Given the description of an element on the screen output the (x, y) to click on. 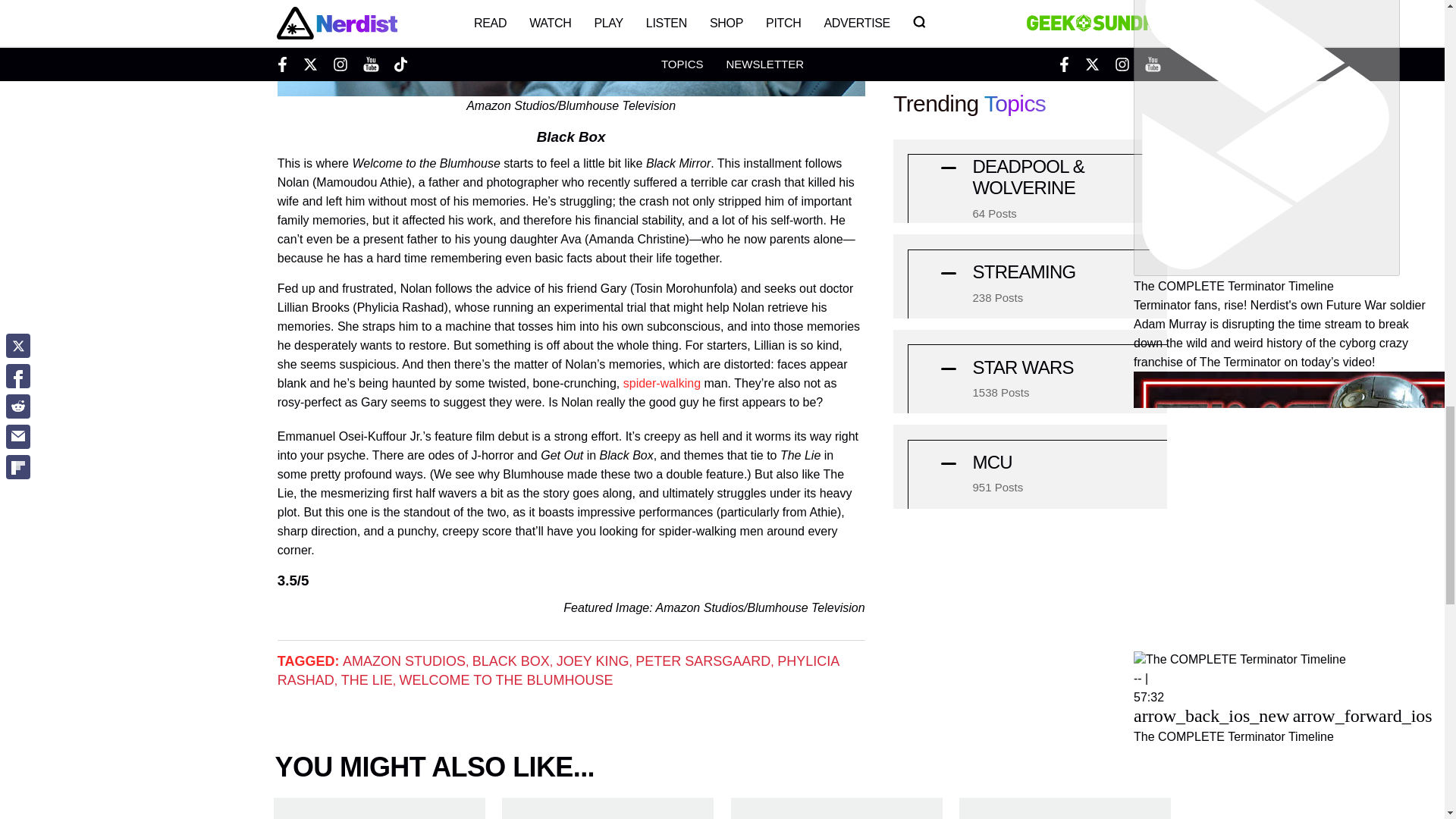
BLACK BOX (510, 661)
WELCOME TO THE BLUMHOUSE (505, 679)
THE LIE (366, 679)
JOEY KING (592, 661)
PETER SARSGAARD (702, 661)
AMAZON STUDIOS (403, 661)
spider-walking (661, 382)
PHYLICIA RASHAD (559, 670)
